Given the description of an element on the screen output the (x, y) to click on. 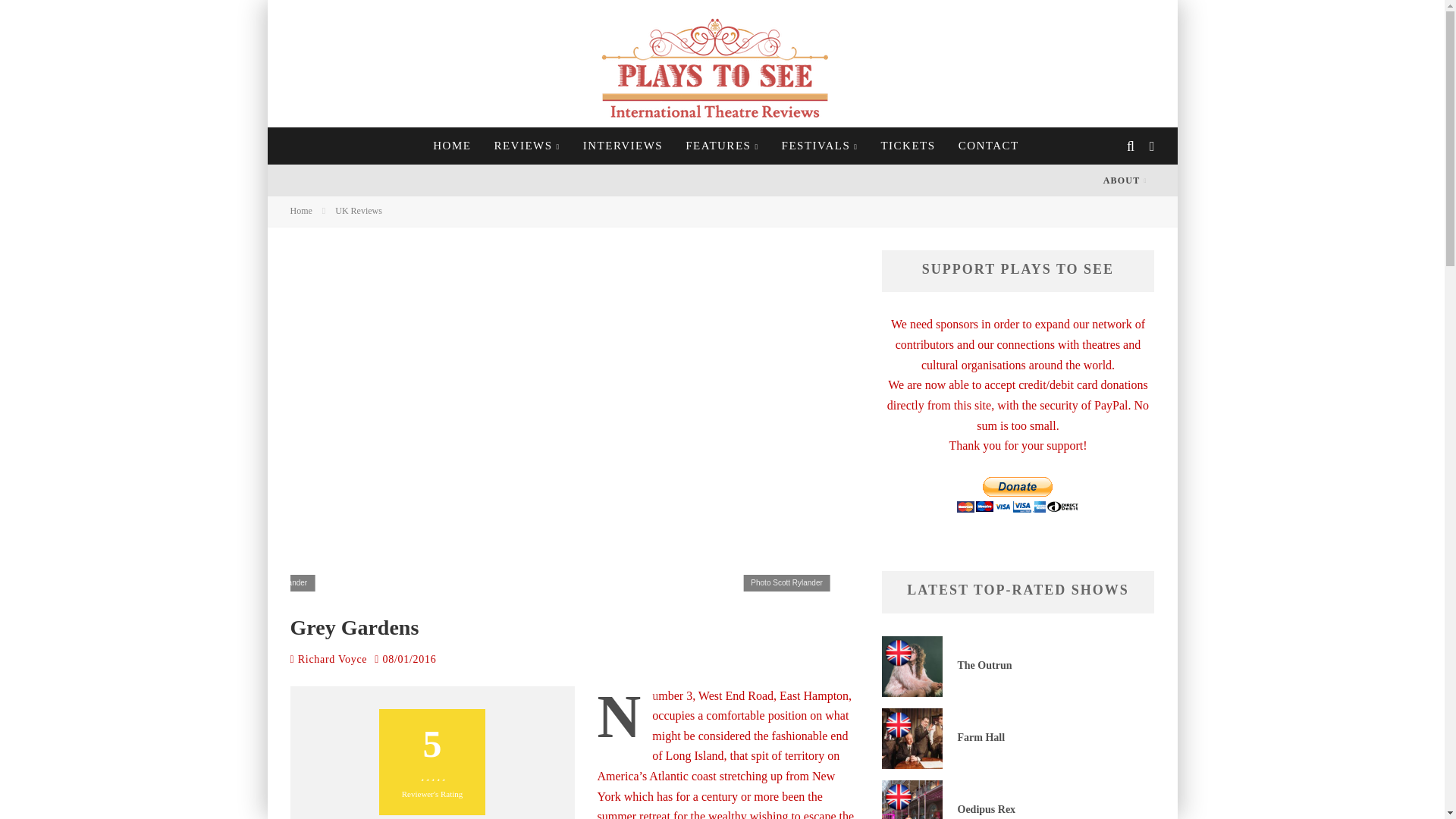
HOME (451, 145)
REVIEWS (525, 145)
PayPal - The safer, easier way to pay online! (1017, 493)
